Given the description of an element on the screen output the (x, y) to click on. 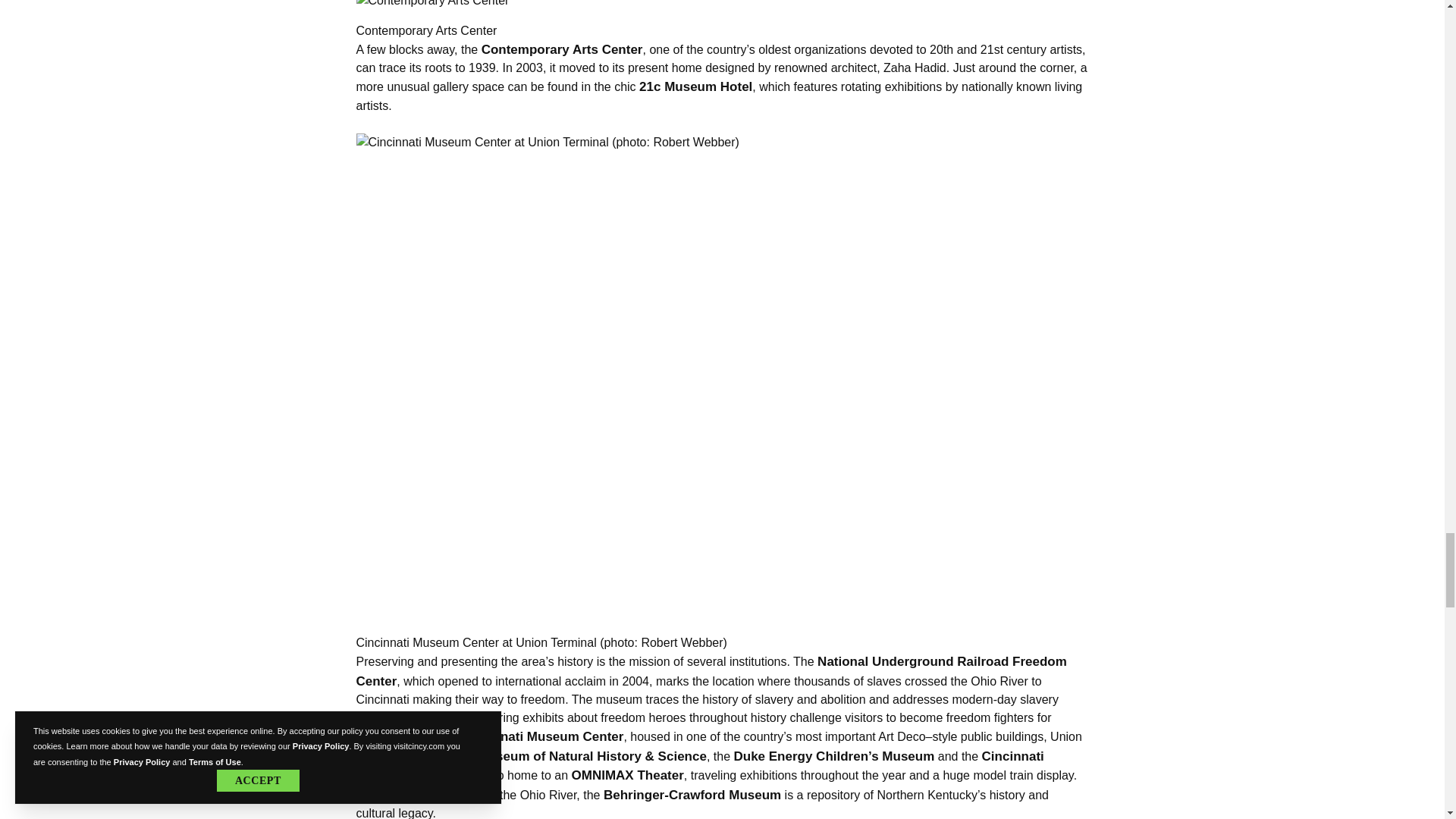
Contemporary Arts Center (722, 4)
